Given the description of an element on the screen output the (x, y) to click on. 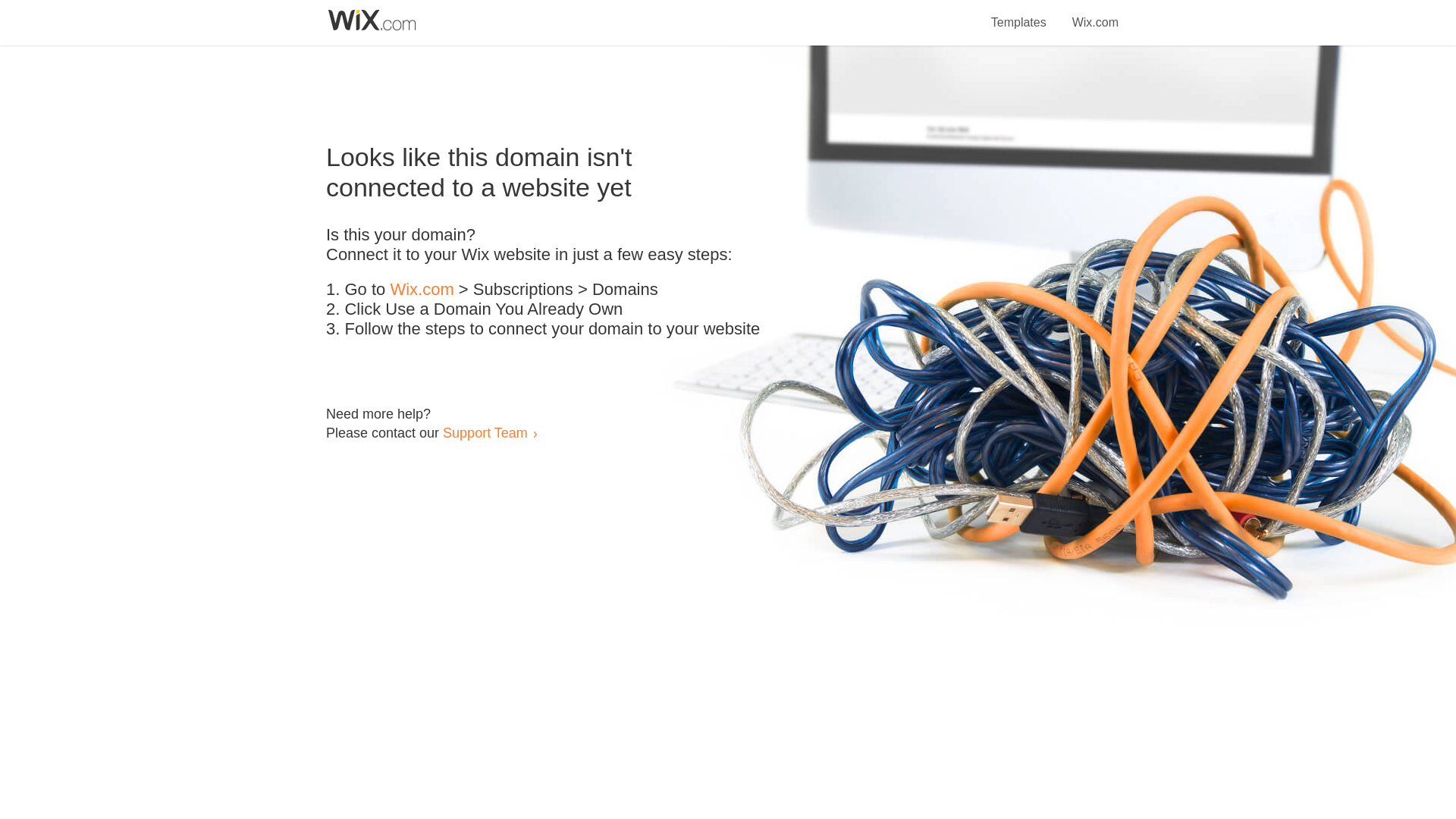
Support Team (484, 432)
Wix.com (421, 289)
Templates (1018, 14)
Wix.com (1095, 14)
